Given the description of an element on the screen output the (x, y) to click on. 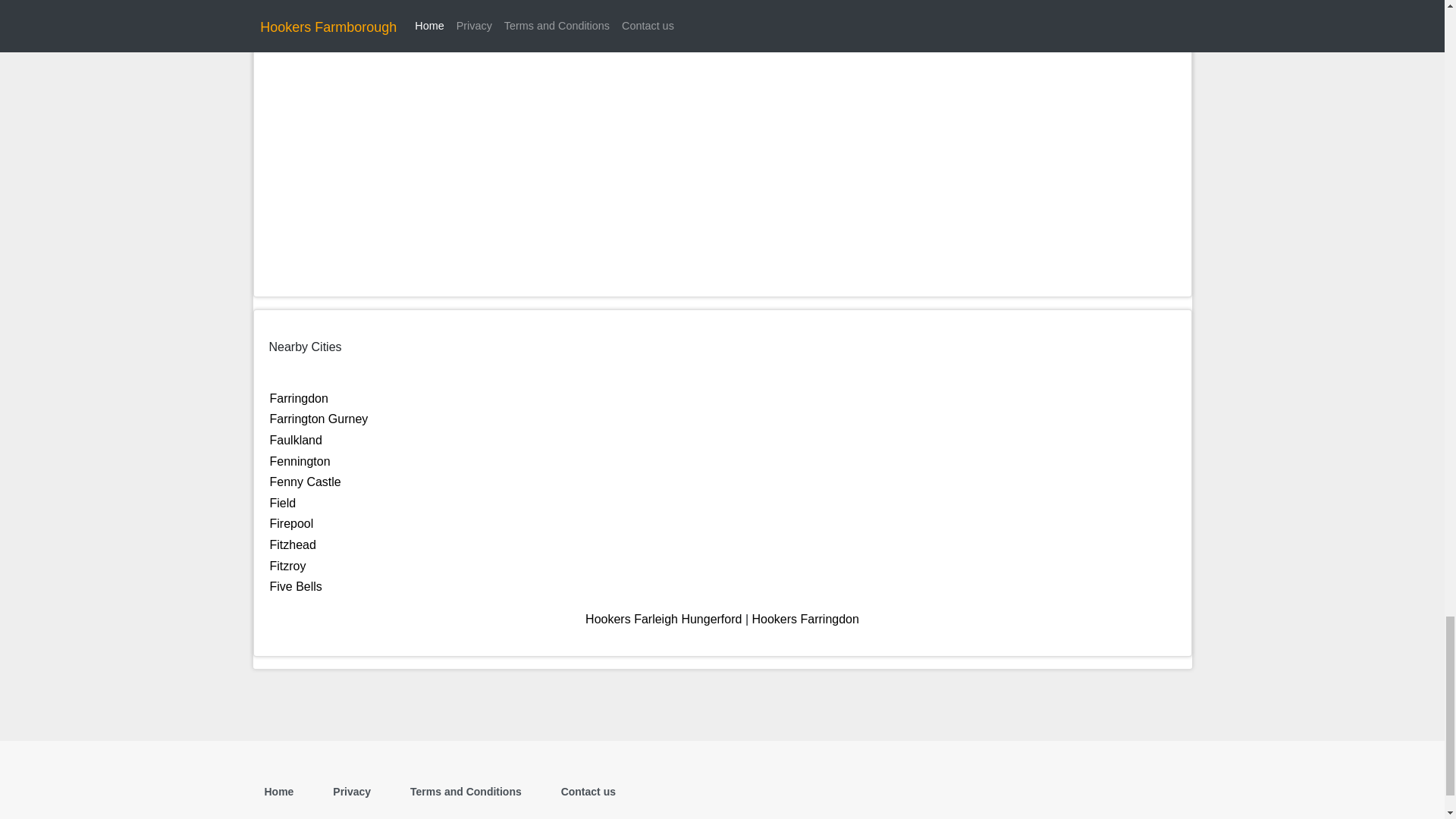
Field (283, 502)
Faulkland (295, 440)
Farringdon (299, 398)
Fenny Castle (304, 481)
Hookers Farringdon (805, 618)
Five Bells (295, 585)
Fennington (299, 461)
Fitzroy (287, 565)
Hookers Farleigh Hungerford (663, 618)
Farrington Gurney (318, 418)
